Given the description of an element on the screen output the (x, y) to click on. 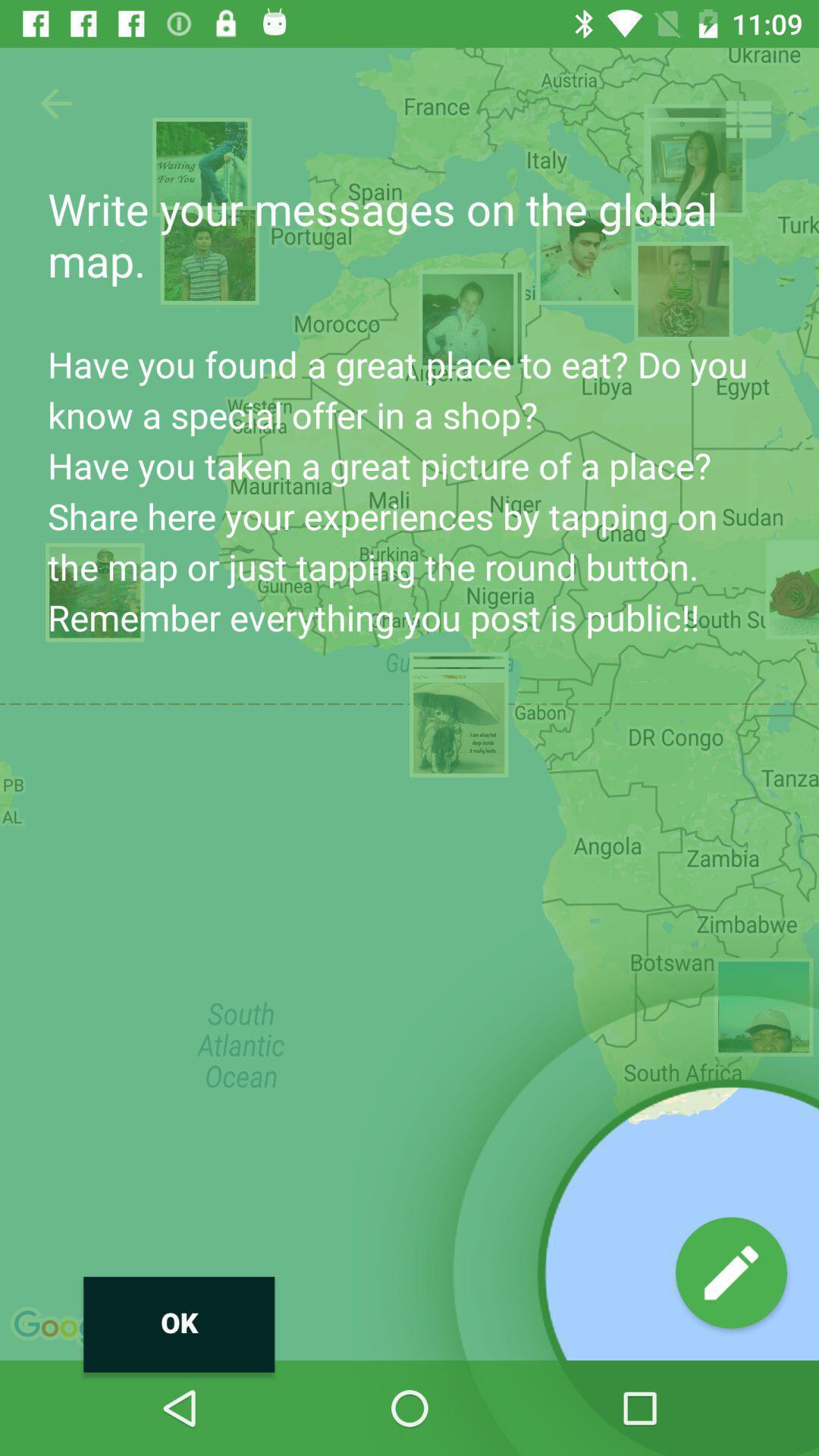
go back (55, 103)
